Given the description of an element on the screen output the (x, y) to click on. 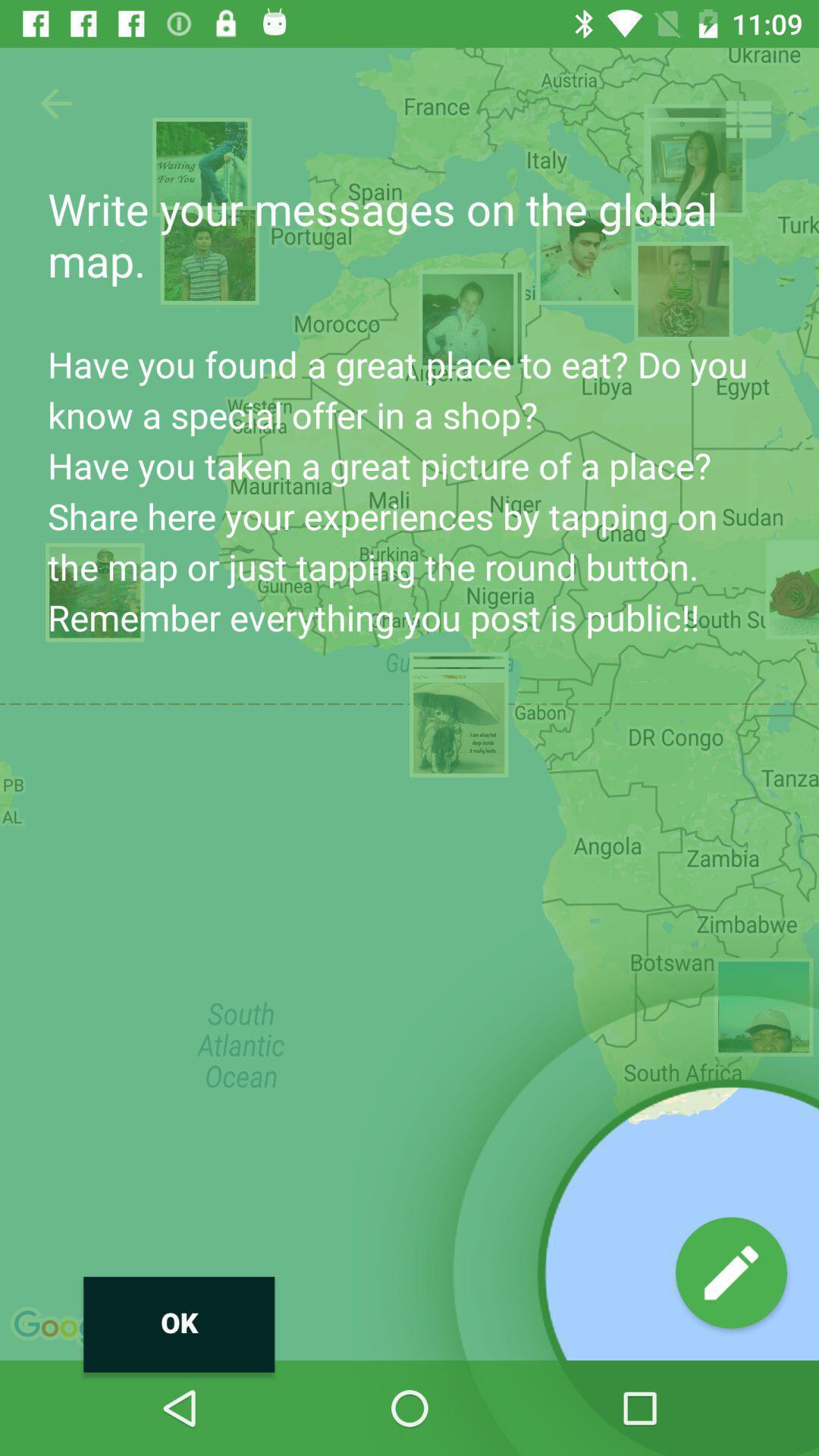
go back (55, 103)
